Given the description of an element on the screen output the (x, y) to click on. 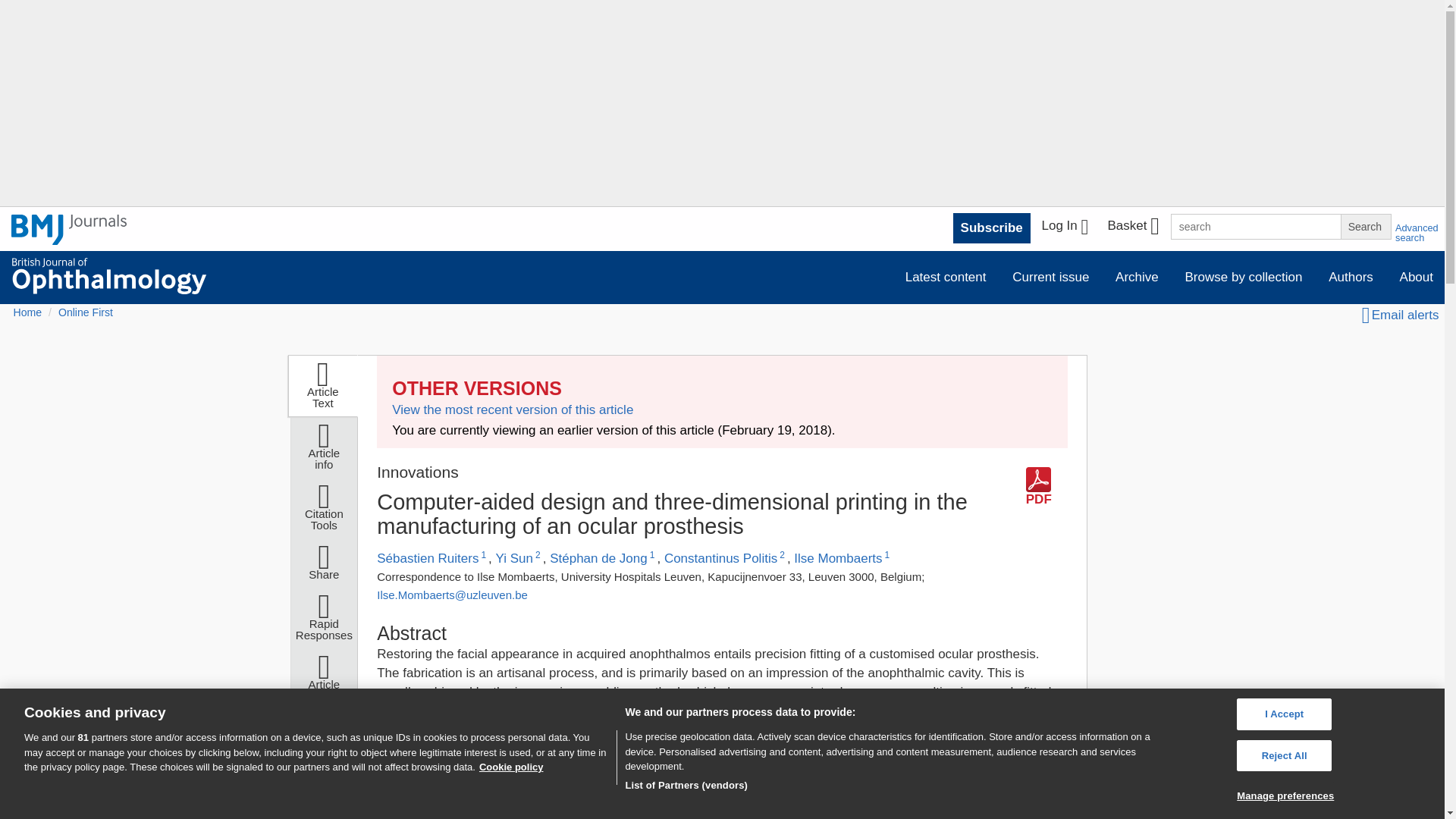
Search (1364, 226)
BMJ Journals (68, 229)
Browse by collection (1243, 276)
Authors (1350, 276)
BMJ Journals (68, 237)
Search (1364, 226)
Latest content (945, 276)
Advanced search (1416, 232)
Subscribe (991, 227)
Archive (1136, 276)
View the most current version of this article. (512, 409)
Basket (1132, 228)
Current issue (1050, 276)
